Given the description of an element on the screen output the (x, y) to click on. 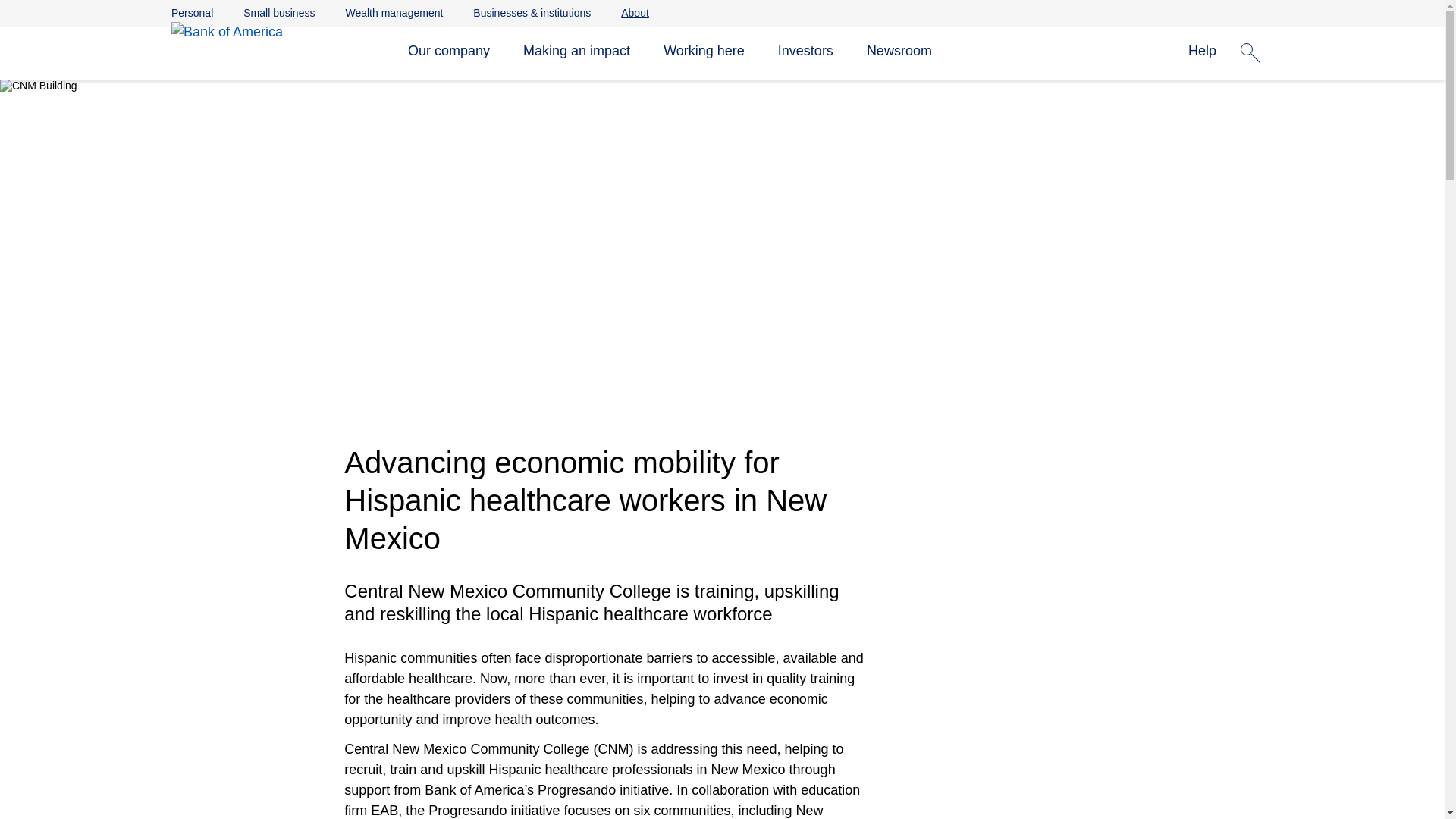
Working here (703, 51)
Wealth management (393, 12)
About (635, 12)
Skip to main content (721, 8)
Investors (804, 51)
Our company (448, 51)
Making an impact (576, 51)
Small business (278, 12)
Newsroom (898, 51)
Personal (191, 12)
